Given the description of an element on the screen output the (x, y) to click on. 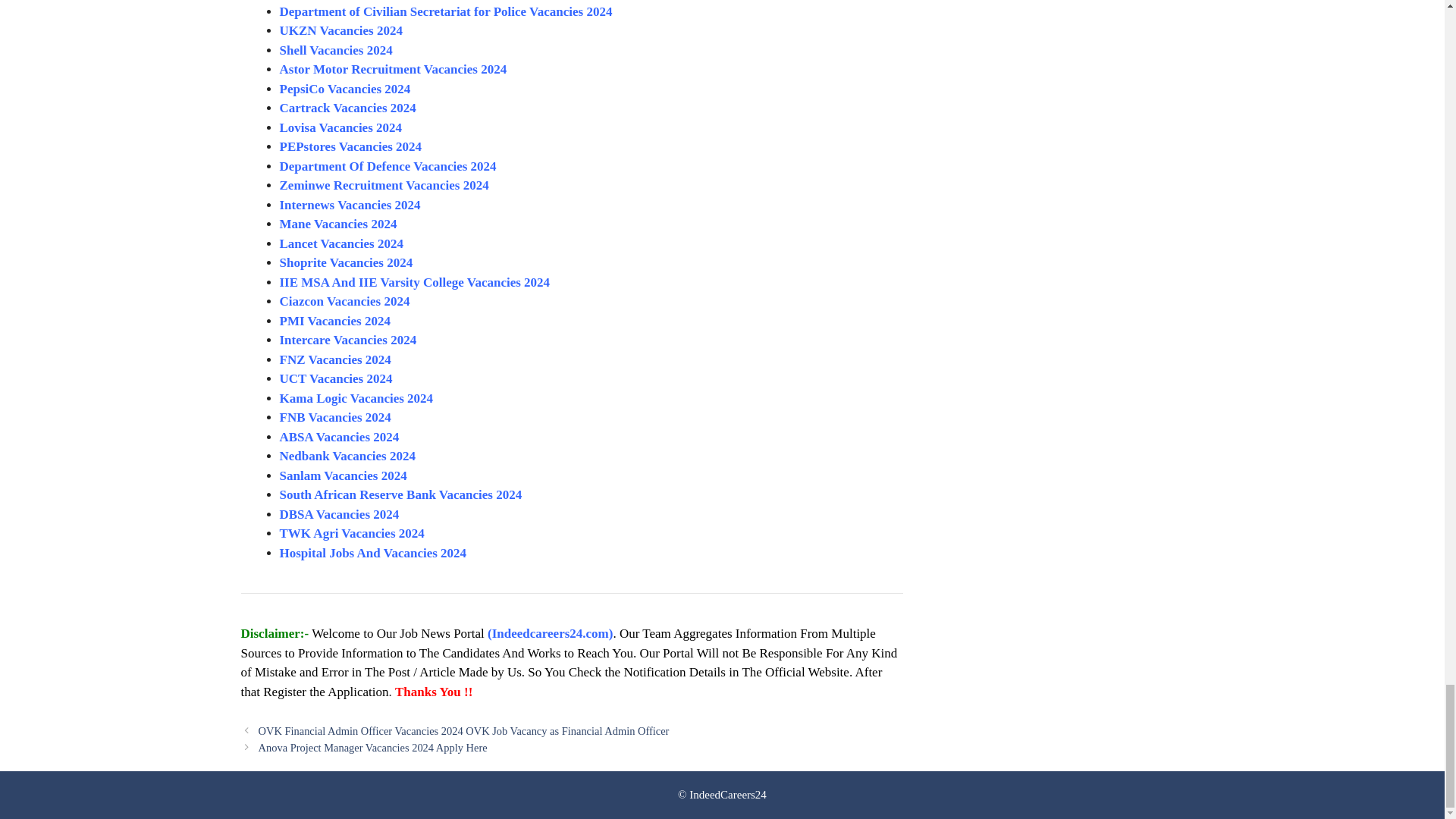
Department of Civilian Secretariat for Police Vacancies 2024 (445, 11)
Shell Vacancies 2024  (337, 50)
UKZN Vacancies 2024 (340, 30)
Astor Motor Recruitment Vacancies 2024 (392, 69)
PepsiCo Vacancies 2024 (344, 88)
